Given the description of an element on the screen output the (x, y) to click on. 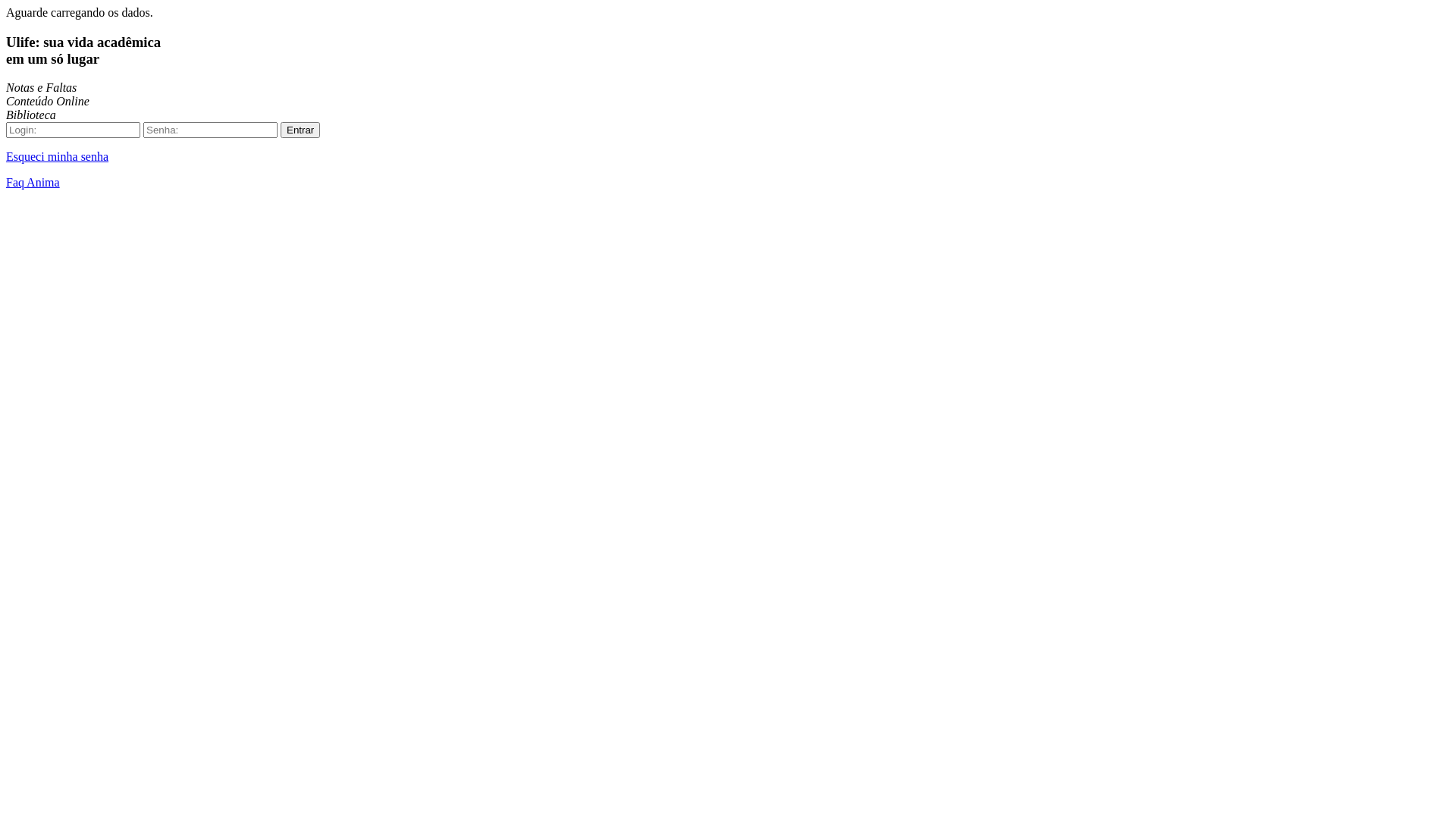
Esqueci minha senha Element type: text (57, 156)
Faq Anima Element type: text (32, 181)
